Given the description of an element on the screen output the (x, y) to click on. 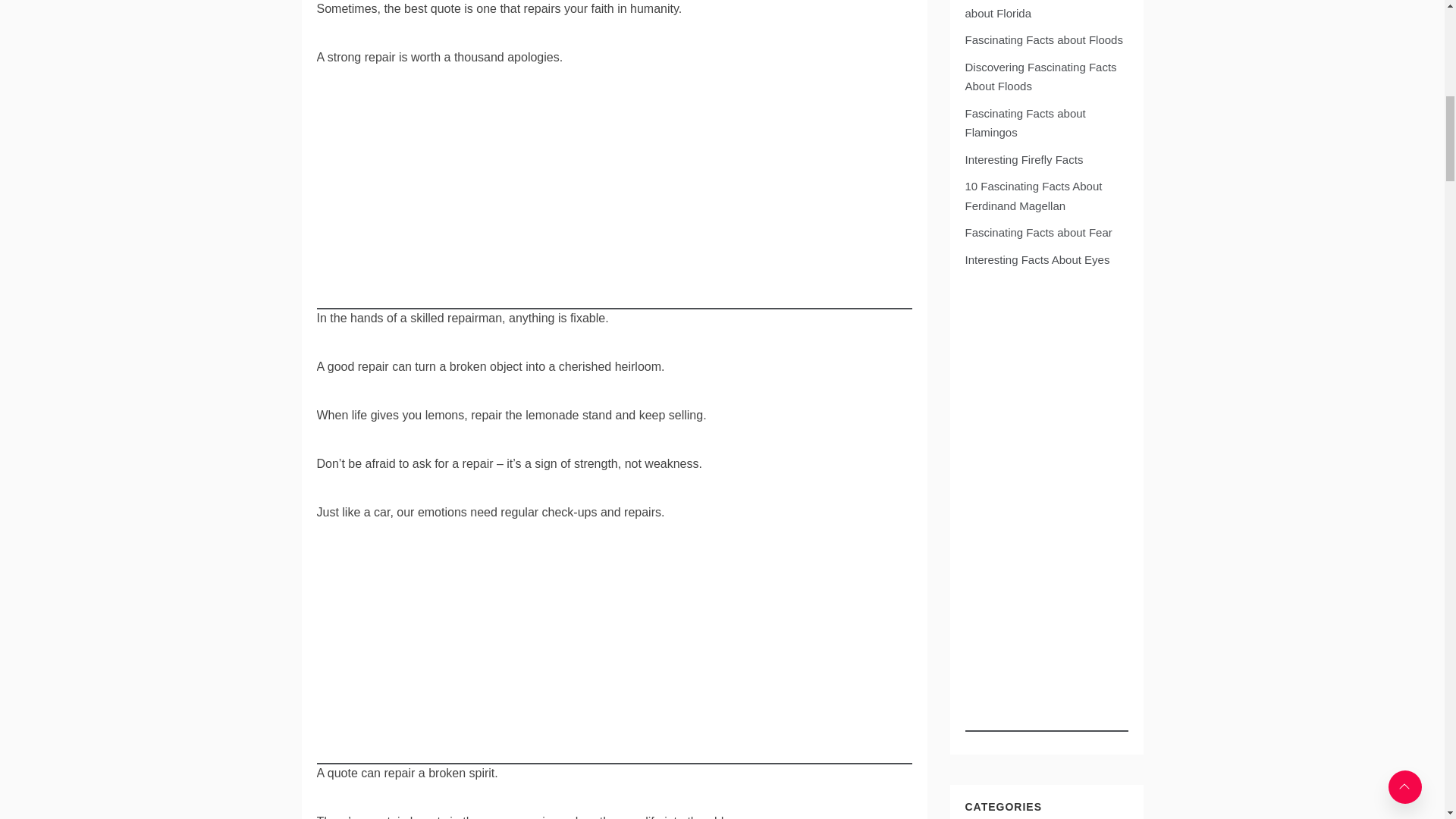
Discover Fascinating Facts about Florida (1031, 9)
10 Fascinating Facts About Ferdinand Magellan (1032, 195)
Interesting Facts About Eyes (1036, 259)
Advertisement (614, 203)
Fascinating Facts about Floods (1042, 39)
Discovering Fascinating Facts About Floods (1039, 76)
Advertisement (614, 658)
Fascinating Facts about Fear (1037, 232)
Interesting Firefly Facts (1023, 159)
Fascinating Facts about Flamingos (1023, 123)
